Given the description of an element on the screen output the (x, y) to click on. 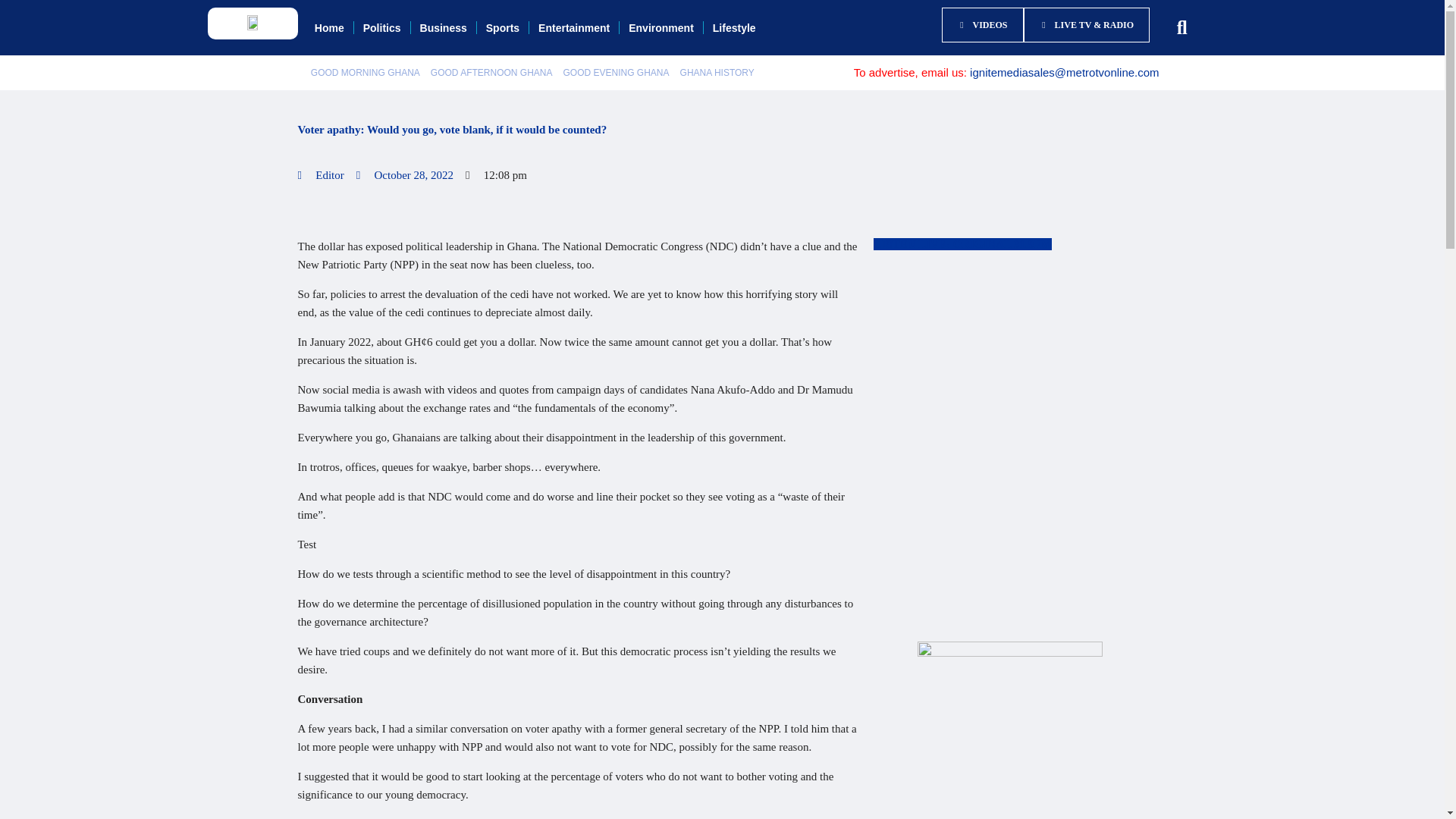
GOOD AFTERNOON GHANA (491, 72)
Lifestyle (734, 27)
Environment (661, 27)
GOOD EVENING GHANA (616, 72)
Business (443, 27)
Sports (502, 27)
GHANA HISTORY (717, 72)
Home (329, 27)
GOOD MORNING GHANA (365, 72)
Entertainment (573, 27)
Politics (381, 27)
VIDEOS (982, 24)
